Given the description of an element on the screen output the (x, y) to click on. 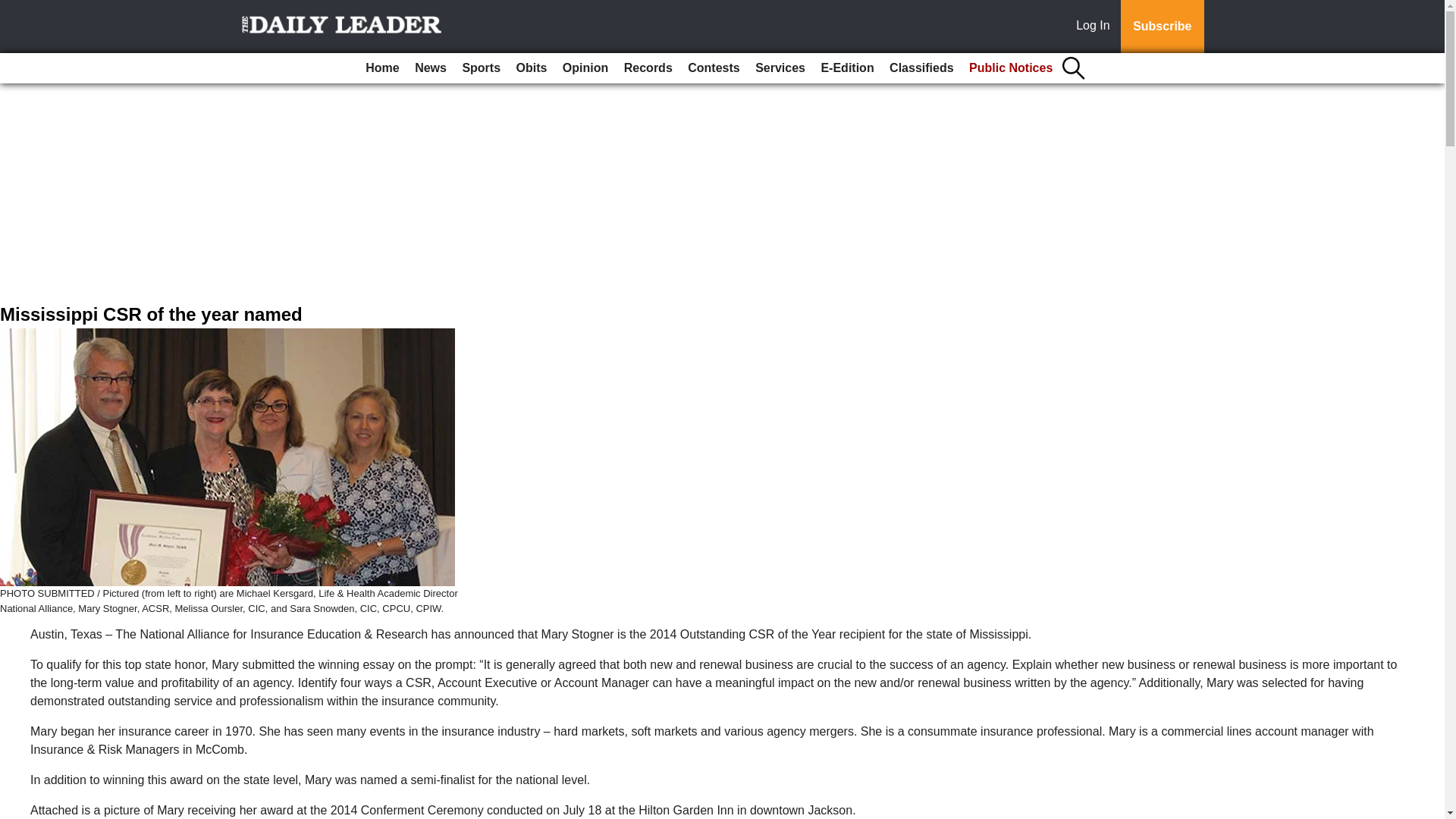
Go (13, 9)
Services (779, 68)
Opinion (585, 68)
Subscribe (1162, 26)
News (430, 68)
E-Edition (846, 68)
Public Notices (1010, 68)
Sports (480, 68)
Log In (1095, 26)
Contests (713, 68)
Obits (532, 68)
Home (381, 68)
Classifieds (921, 68)
Records (647, 68)
